Given the description of an element on the screen output the (x, y) to click on. 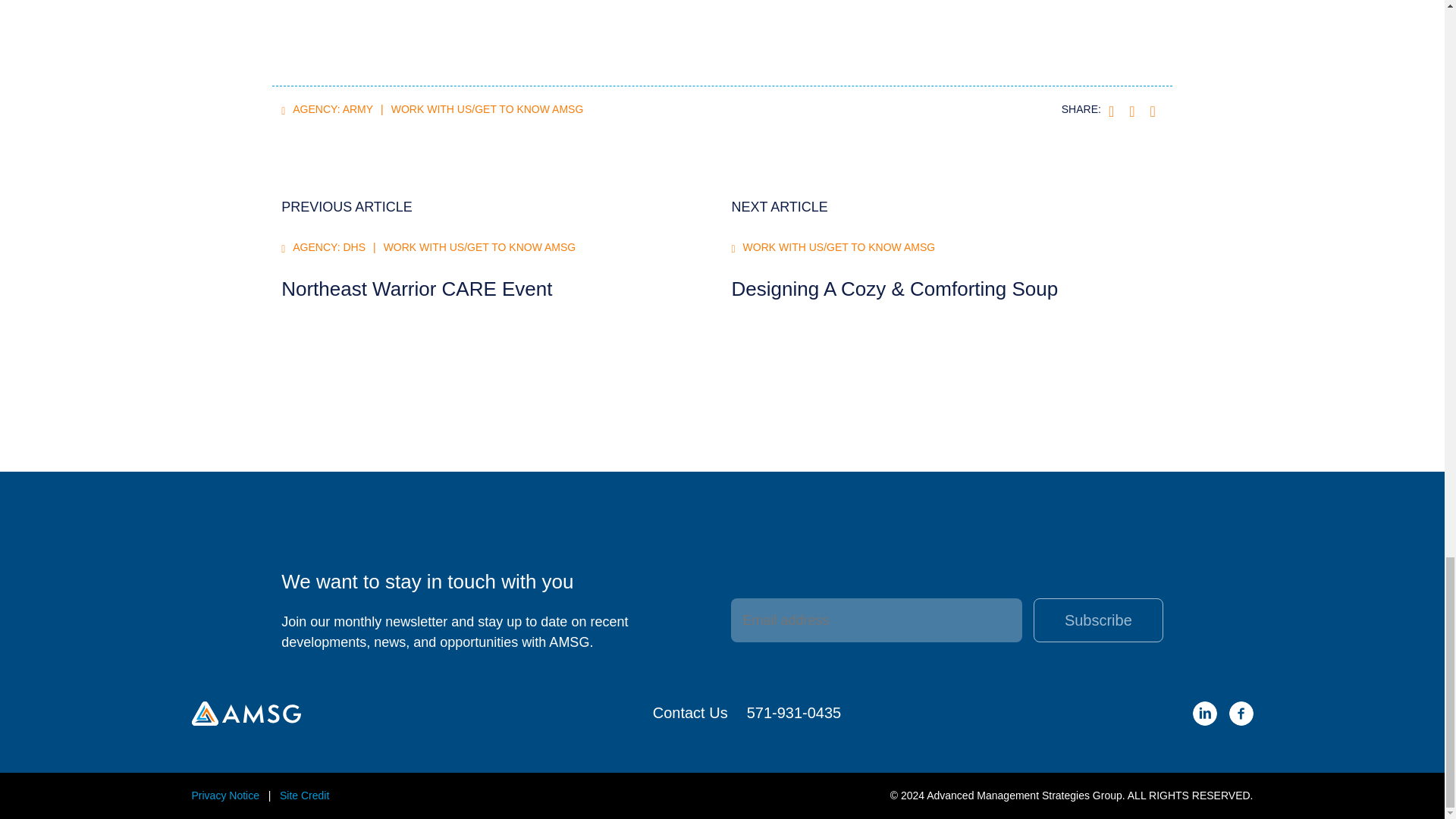
View Tag (328, 247)
View Tag (480, 247)
View Post (894, 288)
Subscribe (1098, 620)
View Tag (487, 109)
View Tag (839, 247)
View Tag (332, 109)
View Post (416, 288)
